Given the description of an element on the screen output the (x, y) to click on. 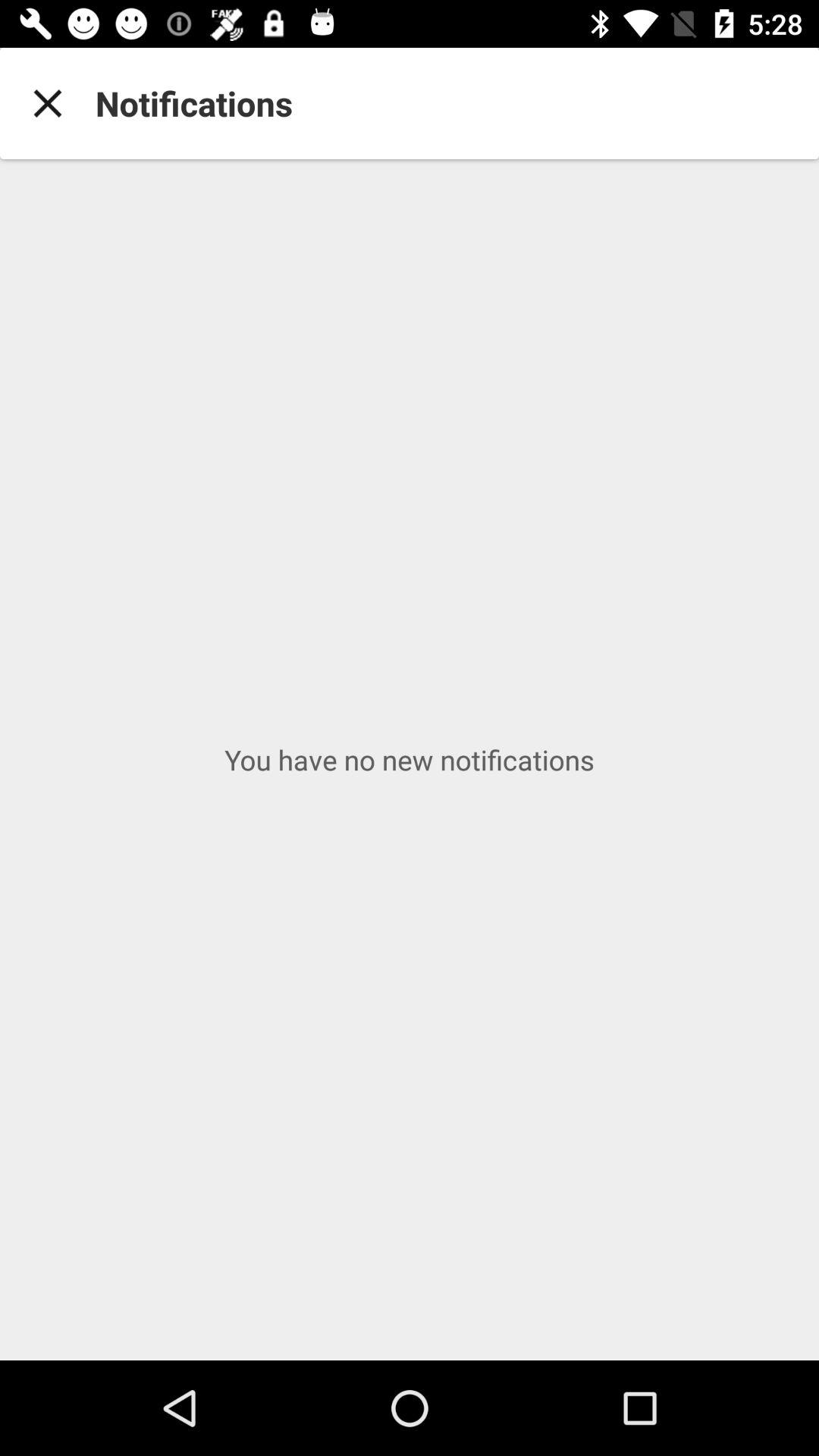
launch the icon next to the notifications icon (47, 103)
